Given the description of an element on the screen output the (x, y) to click on. 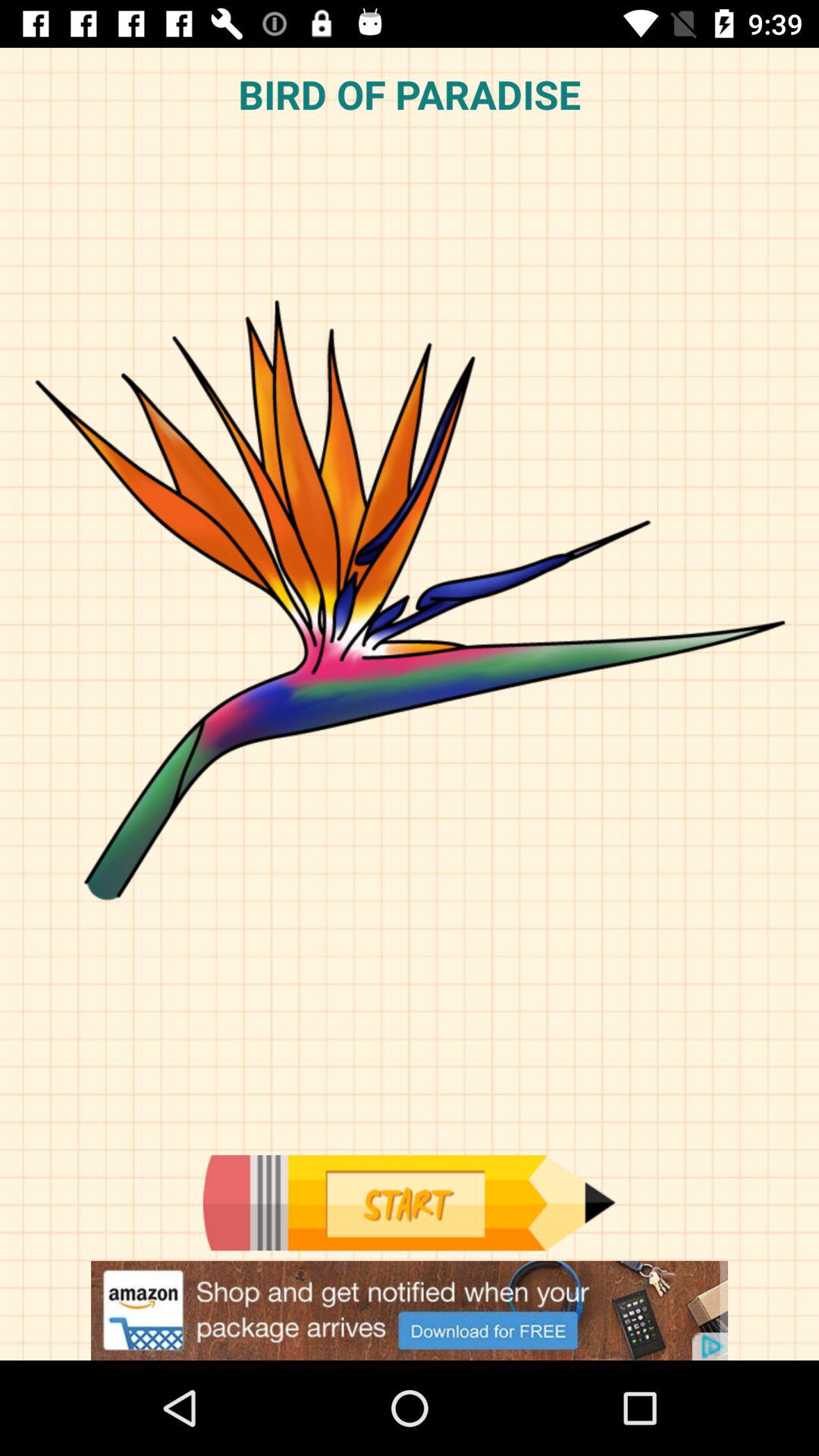
click download for free (409, 1310)
